Given the description of an element on the screen output the (x, y) to click on. 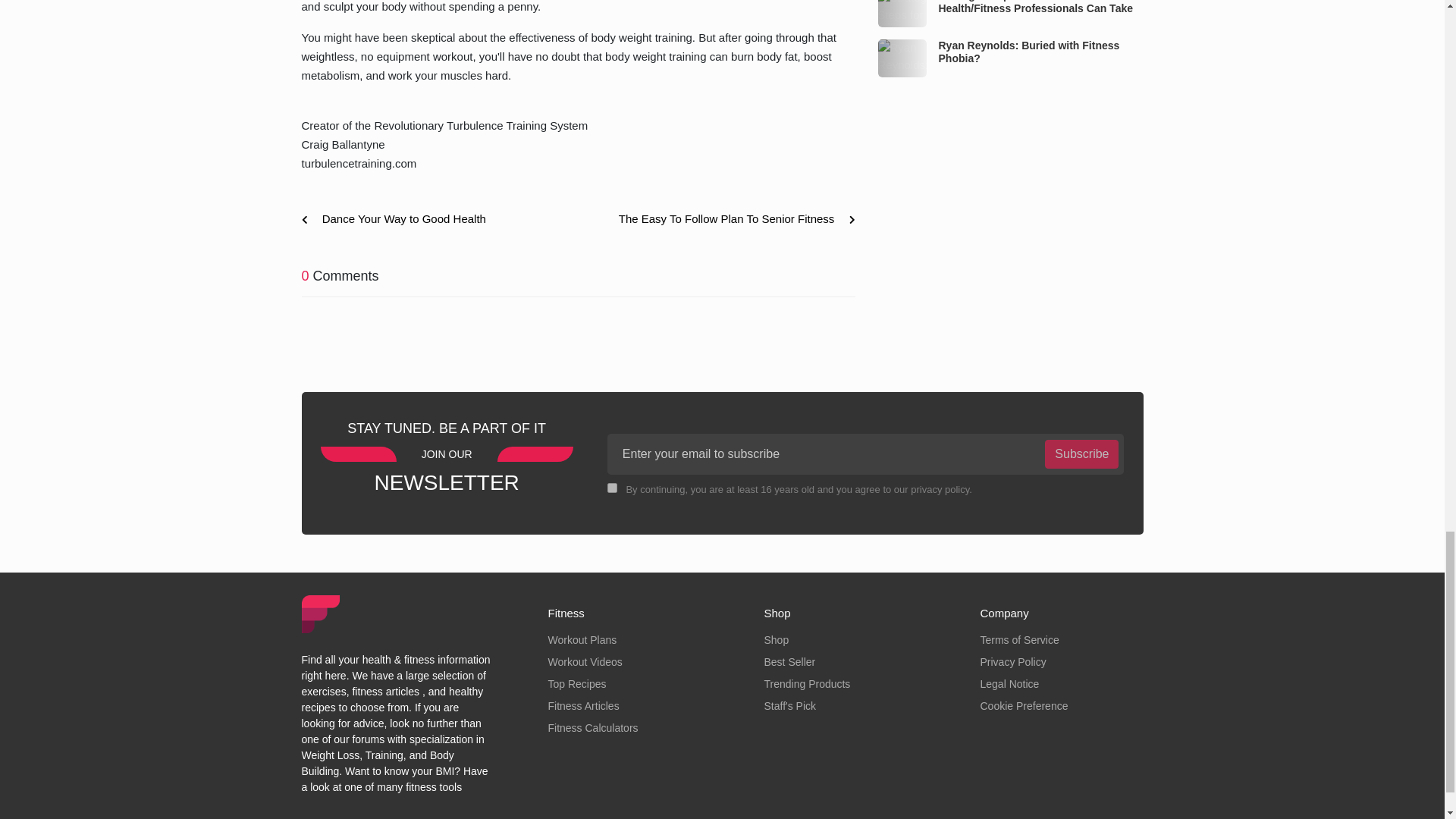
Dance Your Way to Good Health (399, 219)
The Easy To Follow Plan To Senior Fitness (731, 219)
on (612, 488)
Ryan Reynolds:  Buried with Fitness Phobia? (901, 57)
